Given the description of an element on the screen output the (x, y) to click on. 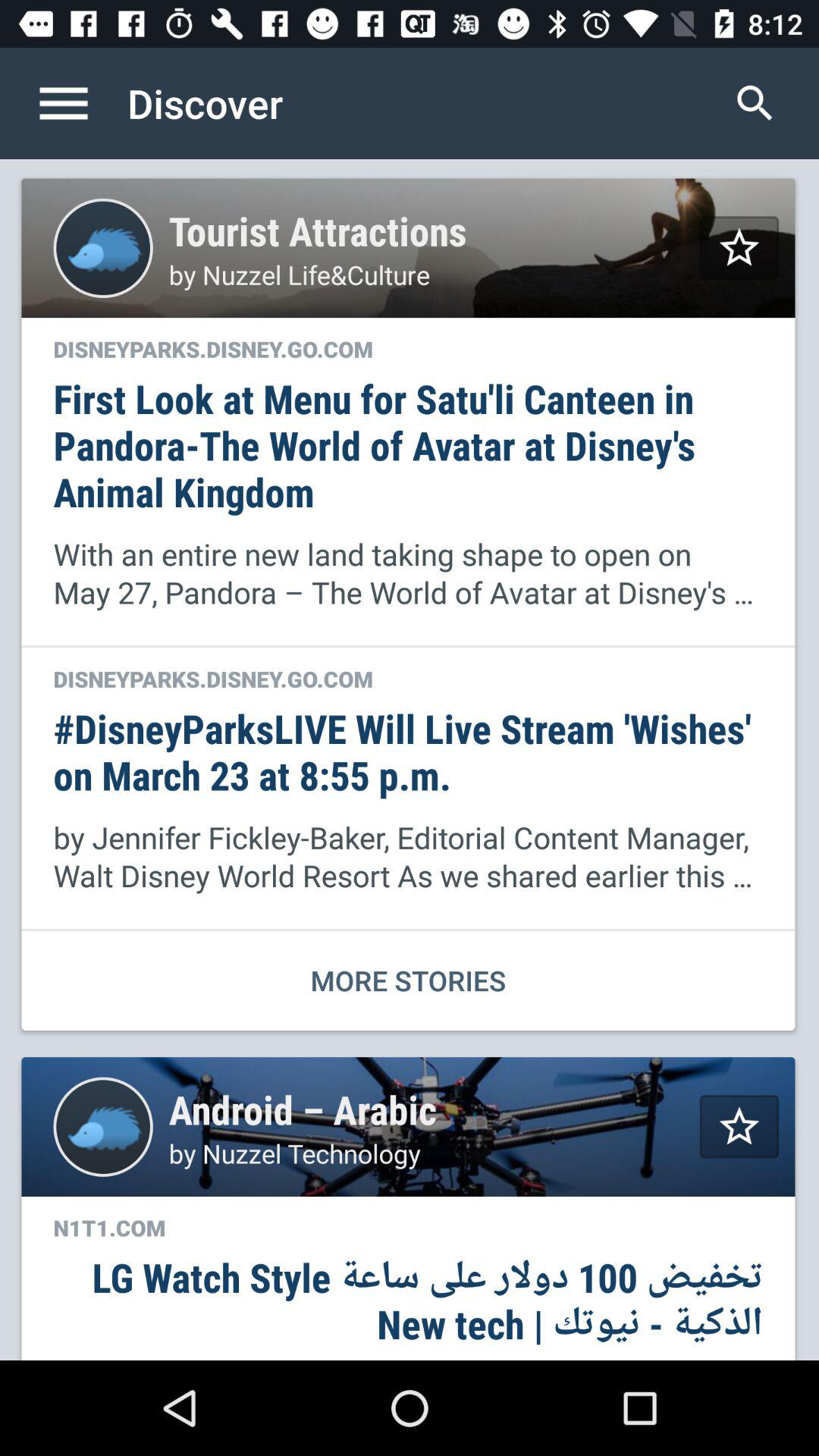
open menu (79, 103)
